Given the description of an element on the screen output the (x, y) to click on. 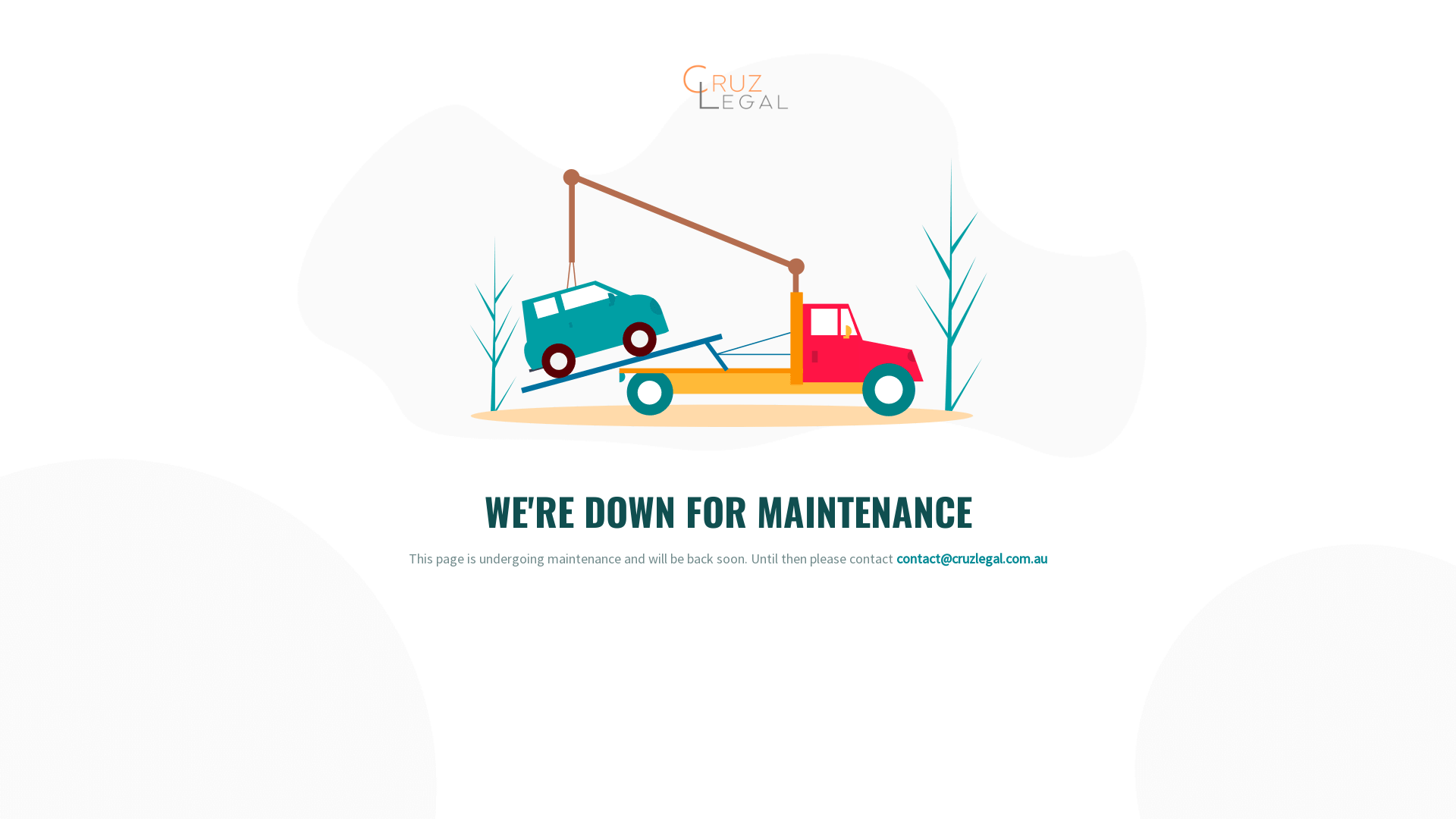
contact@cruzlegal.com.au Element type: text (971, 558)
